Given the description of an element on the screen output the (x, y) to click on. 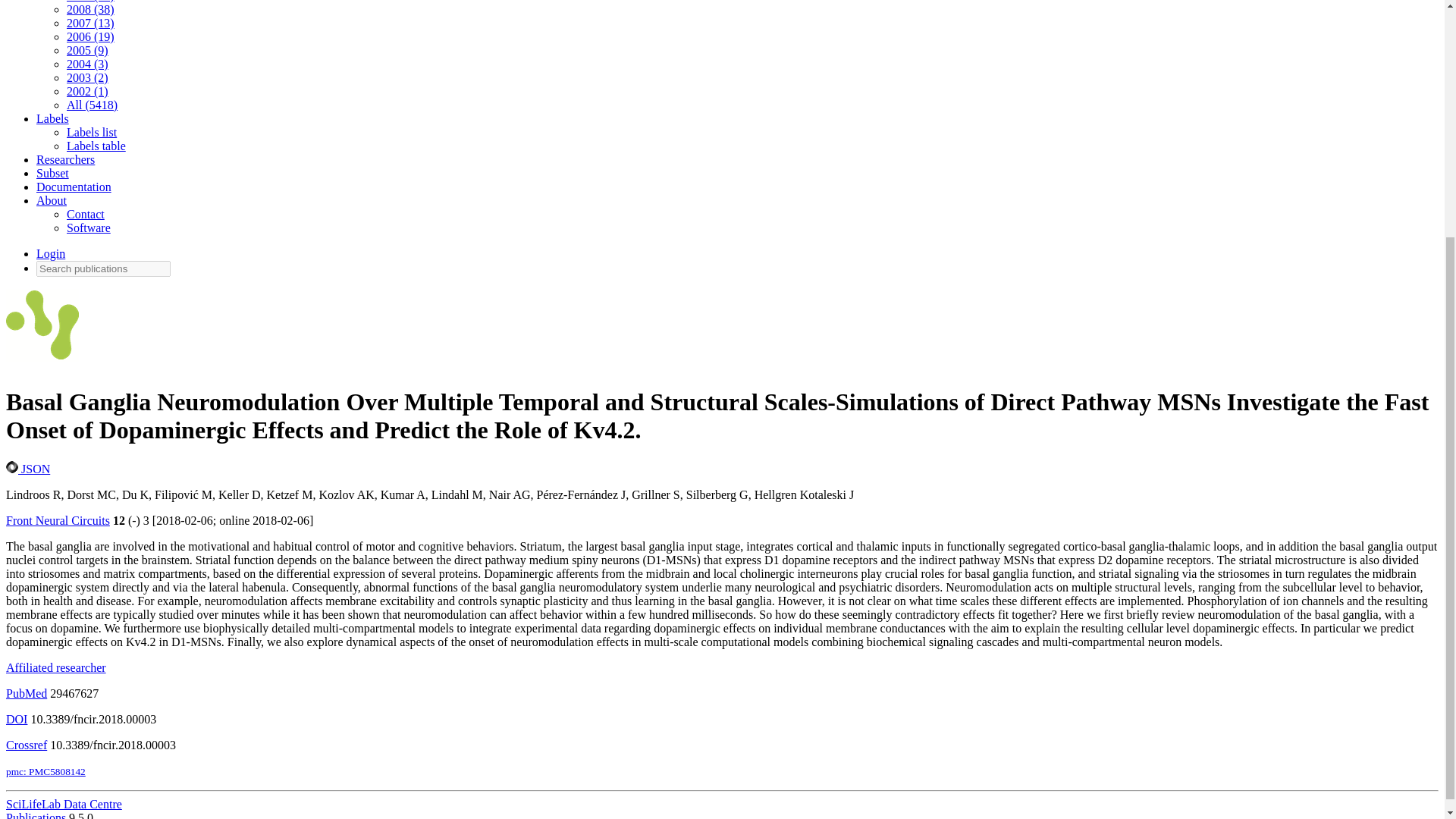
Login (50, 253)
Subset (52, 173)
Documentation (74, 186)
SciLifeLab Affiliated and Fellows Publications (41, 329)
Contact (85, 214)
Researchers (65, 159)
Labels table (95, 145)
Software (88, 227)
Labels (52, 118)
Labels list (91, 132)
